Given the description of an element on the screen output the (x, y) to click on. 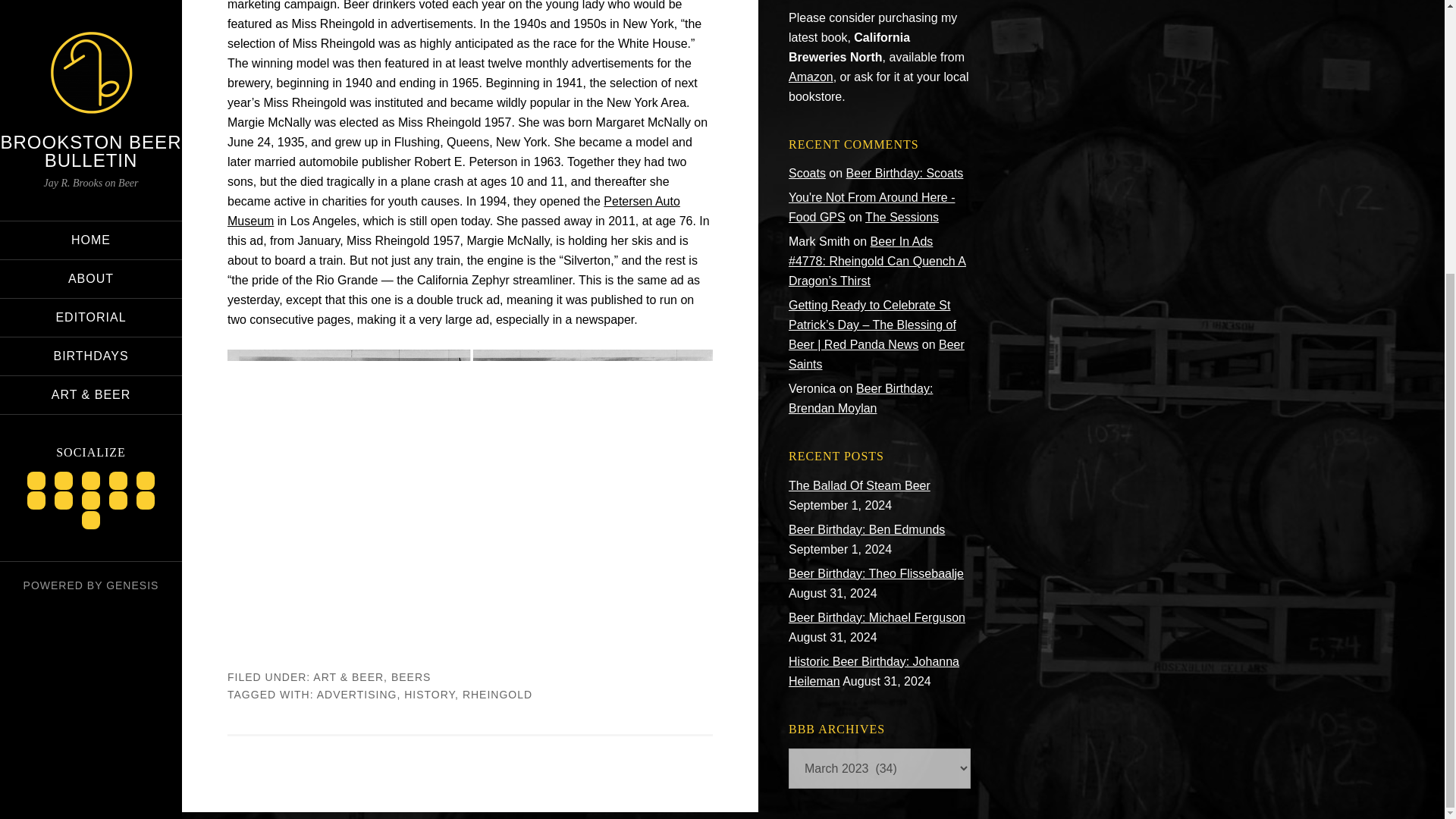
RHEINGOLD (497, 694)
Beer Birthday: Scoats (904, 173)
ADVERTISING (357, 694)
GENESIS (132, 183)
Scoats (807, 173)
BEERS (410, 676)
Petersen Auto Museum (453, 210)
The Sessions (901, 216)
Amazon (810, 76)
HISTORY (429, 694)
